Given the description of an element on the screen output the (x, y) to click on. 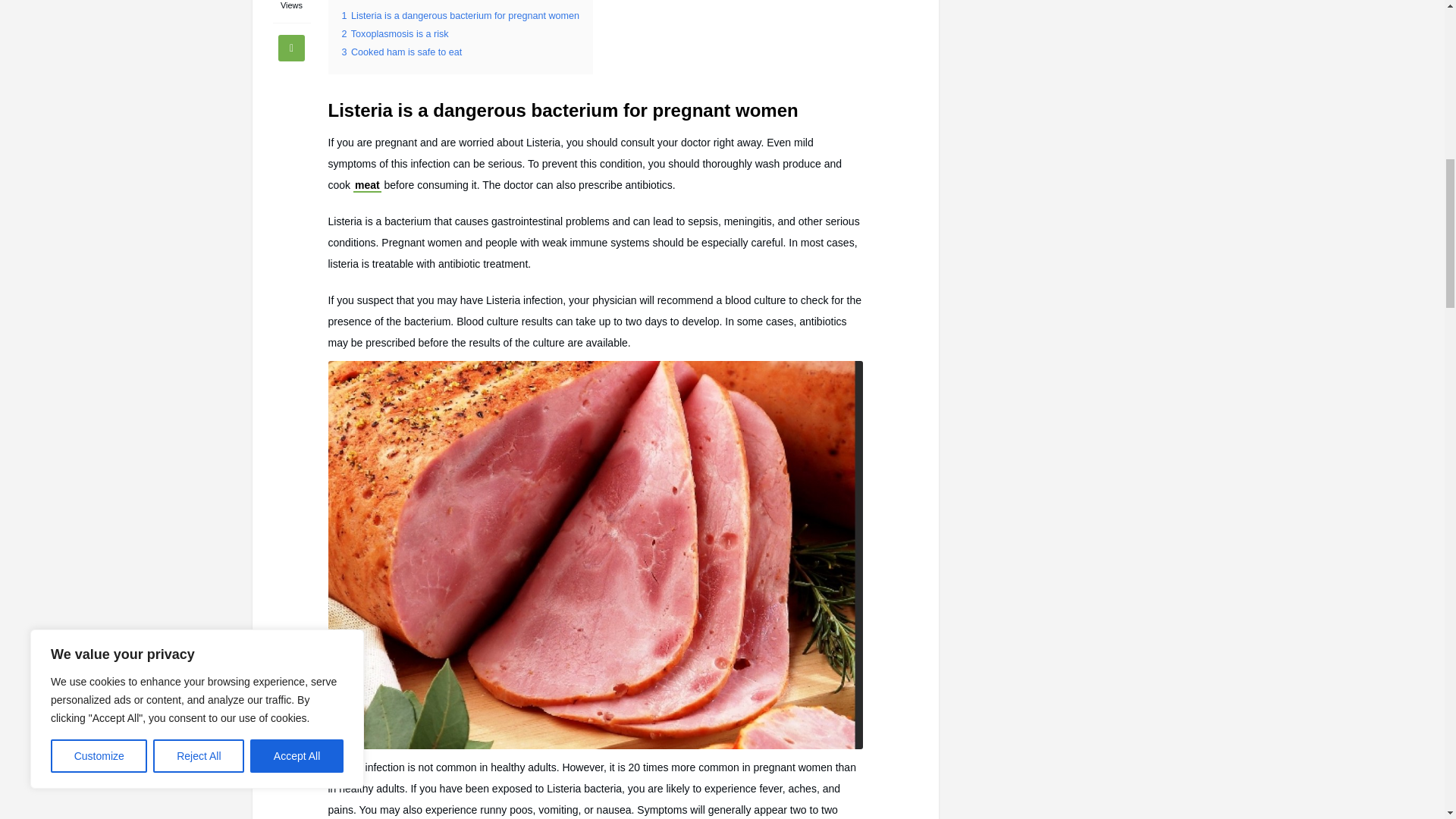
meat (367, 185)
